Given the description of an element on the screen output the (x, y) to click on. 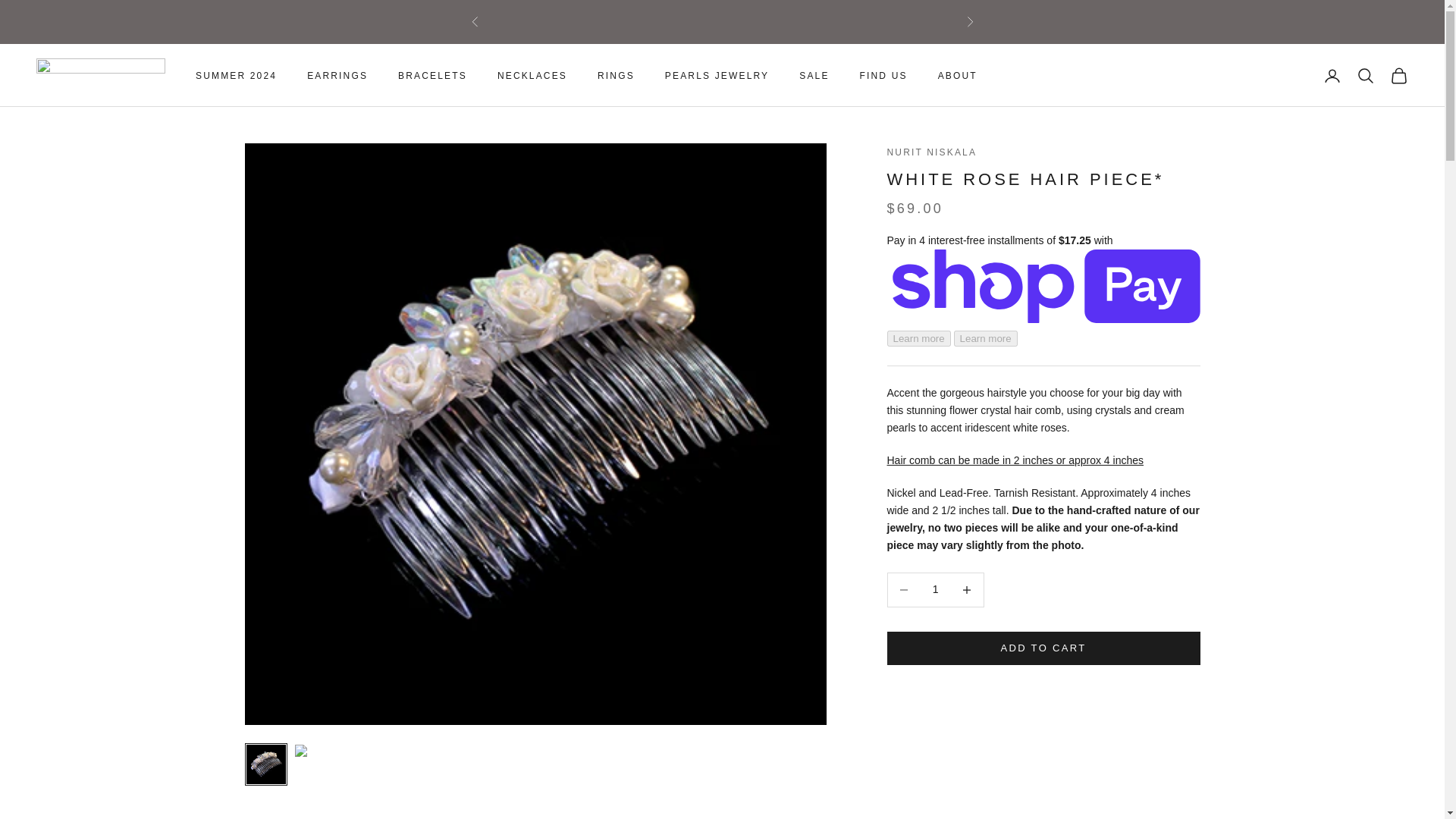
Next (968, 22)
SUMMER 2024 (235, 75)
Open cart (1398, 75)
Previous (474, 22)
RINGS (615, 75)
Nurit Niskala Metal Jewelry Designer USA (100, 75)
SALE (813, 75)
Open account page (1331, 75)
FIND US (883, 75)
1 (935, 589)
Open search (1365, 75)
